Given the description of an element on the screen output the (x, y) to click on. 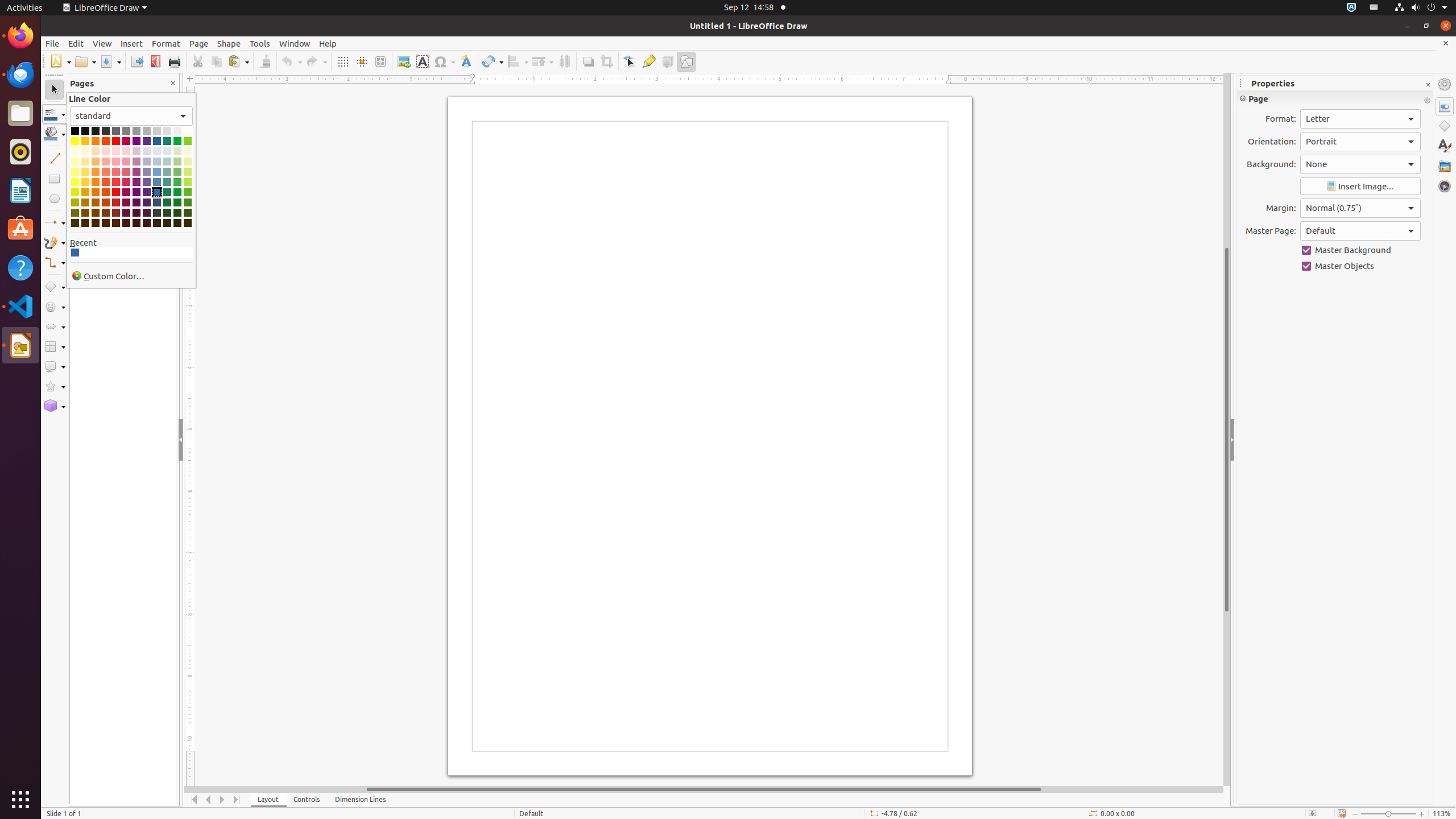
Dark Gold 2 Element type: list-item (85, 202)
Blue Element type: list-item (156, 140)
Light Indigo 2 Element type: list-item (146, 171)
Files Element type: push-button (20, 113)
:1.21/StatusNotifierItem Element type: menu (1373, 7)
